Given the description of an element on the screen output the (x, y) to click on. 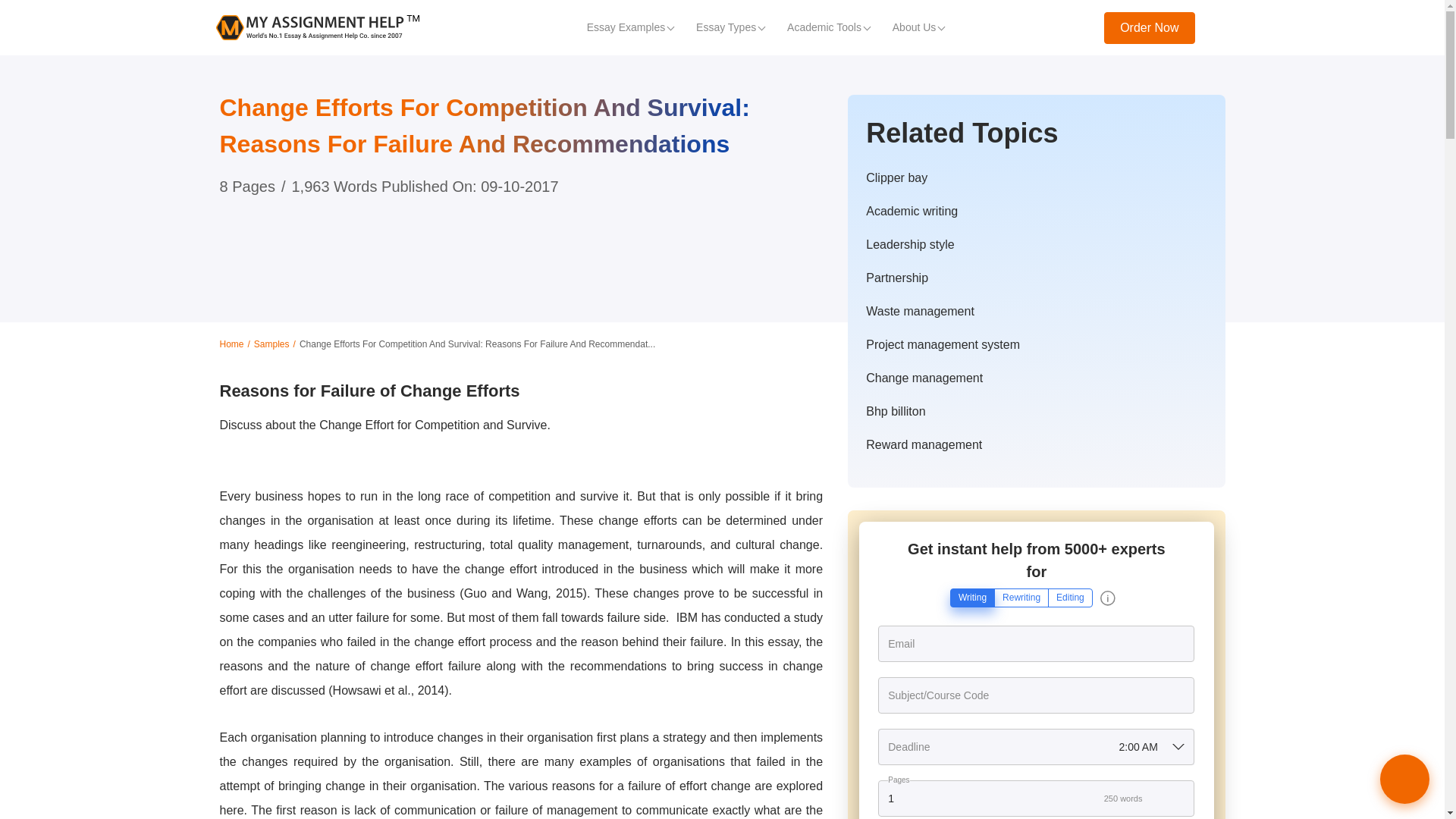
Essay Examples (629, 27)
plus (1181, 798)
1 (1035, 798)
myassignmenthelp (317, 27)
menu (1218, 27)
Info (1107, 598)
